Given the description of an element on the screen output the (x, y) to click on. 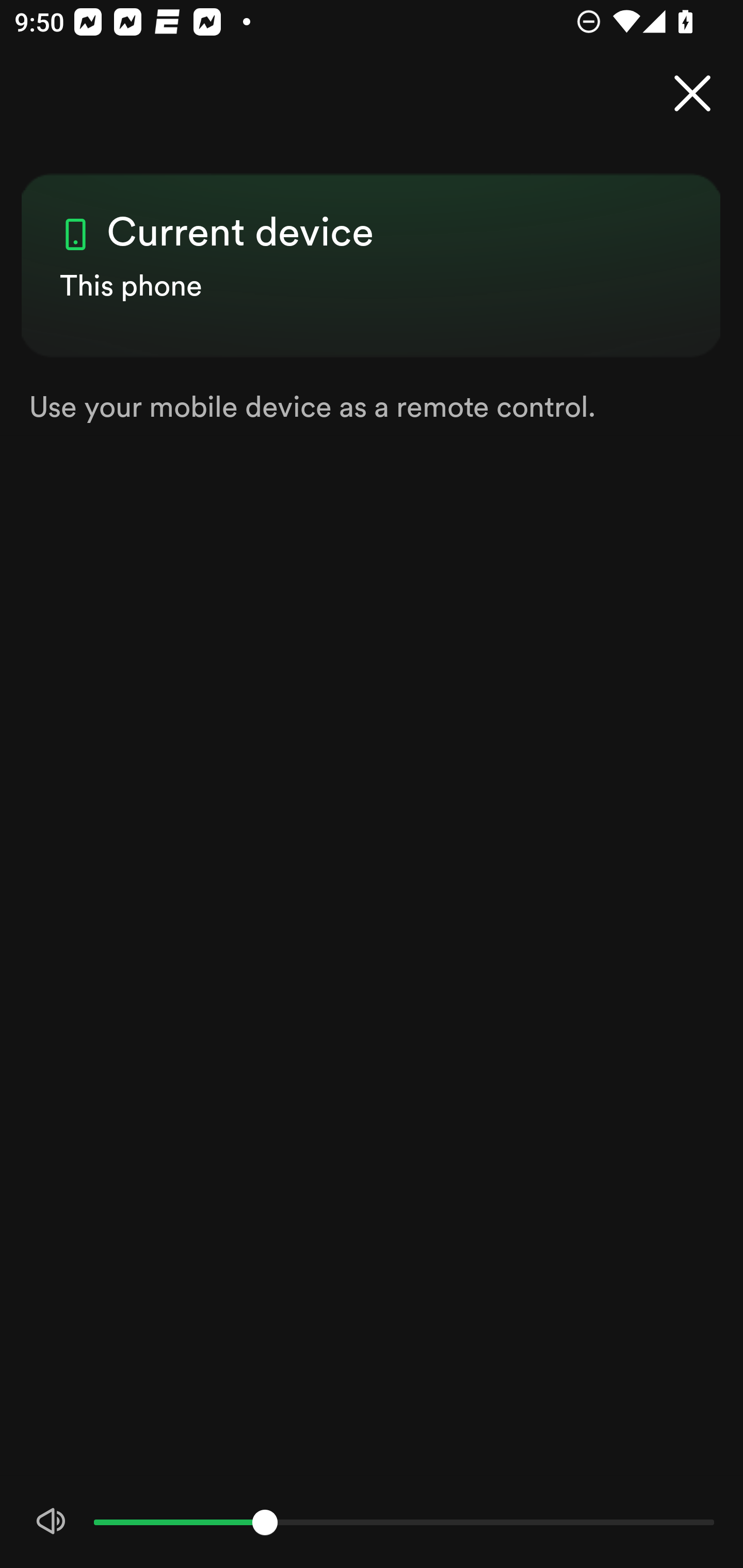
Close (692, 93)
Current device This phone (371, 247)
